Given the description of an element on the screen output the (x, y) to click on. 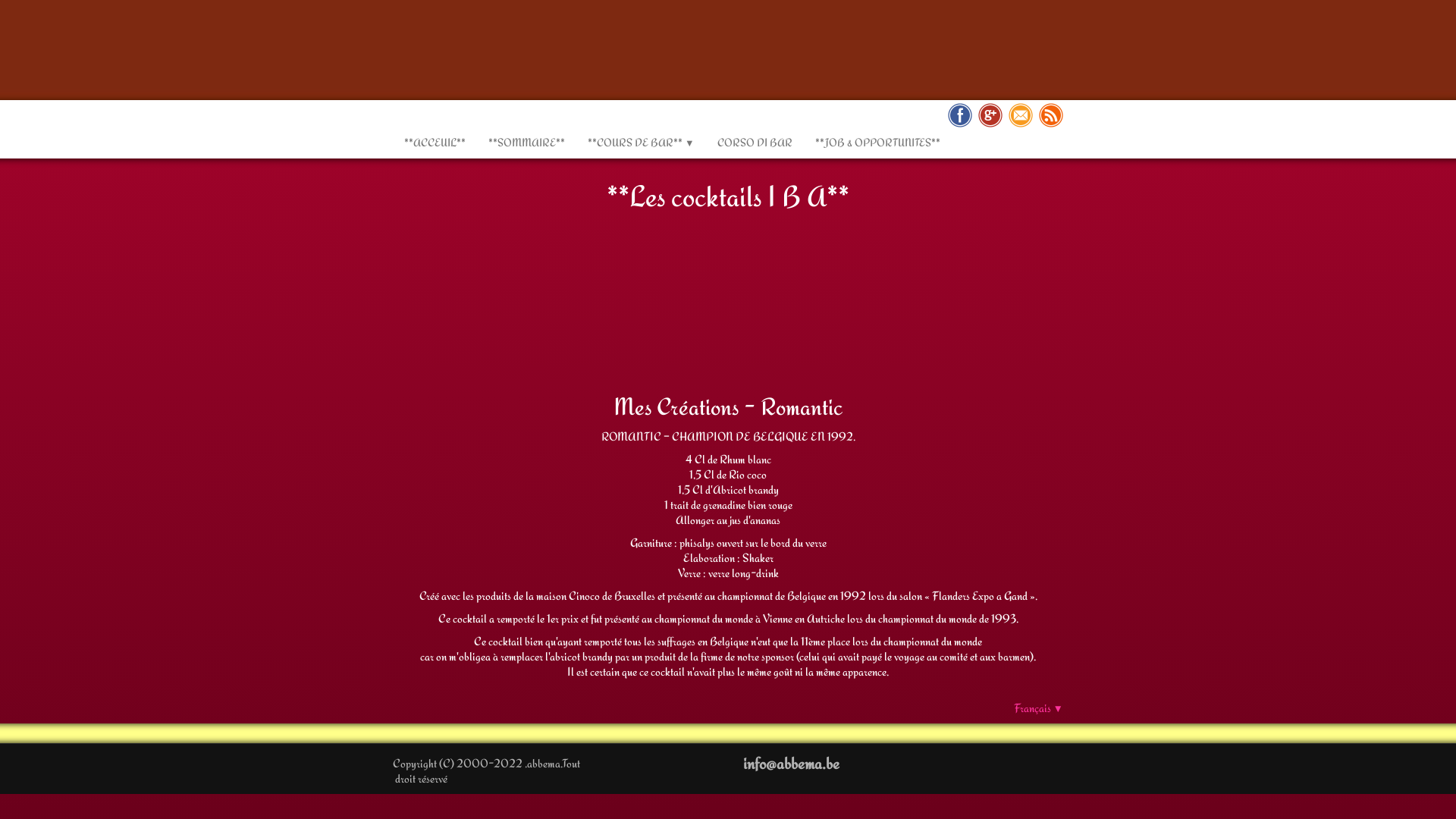
**SOMMAIRE** Element type: text (526, 142)
CORSO DI BAR Element type: text (754, 142)
**ACCEUIL** Element type: text (434, 142)
info@abbema.be Element type: text (791, 762)
**JOB & OPPORTUNITES** Element type: text (877, 142)
